Given the description of an element on the screen output the (x, y) to click on. 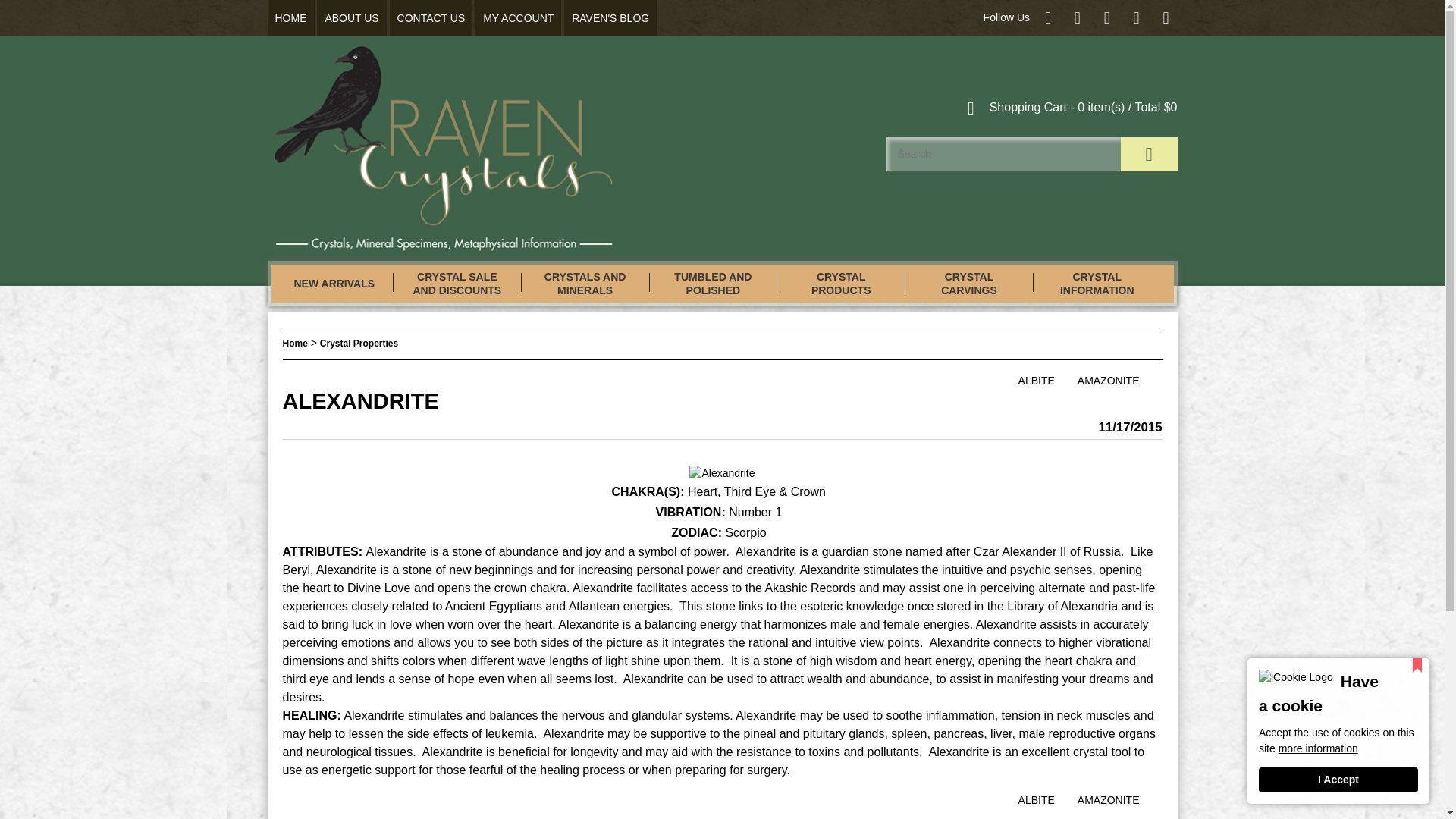
Follow Us on Twitter (1077, 18)
RAVEN'S BLOG (610, 18)
TUMBLED AND POLISHED (712, 283)
CRYSTAL SALE AND DISCOUNTS (457, 283)
Follow Us on Pinterest (1106, 18)
Follow Us on Instagram (1135, 18)
Subscribe to our Blog (1165, 18)
CONTACT US (431, 18)
HOME (290, 18)
ABOUT US (351, 18)
NEW ARRIVALS (334, 284)
Like Us on Facebook (1048, 18)
CRYSTAL CARVINGS (968, 283)
MY ACCOUNT (518, 18)
CRYSTAL PRODUCTS (840, 283)
